Given the description of an element on the screen output the (x, y) to click on. 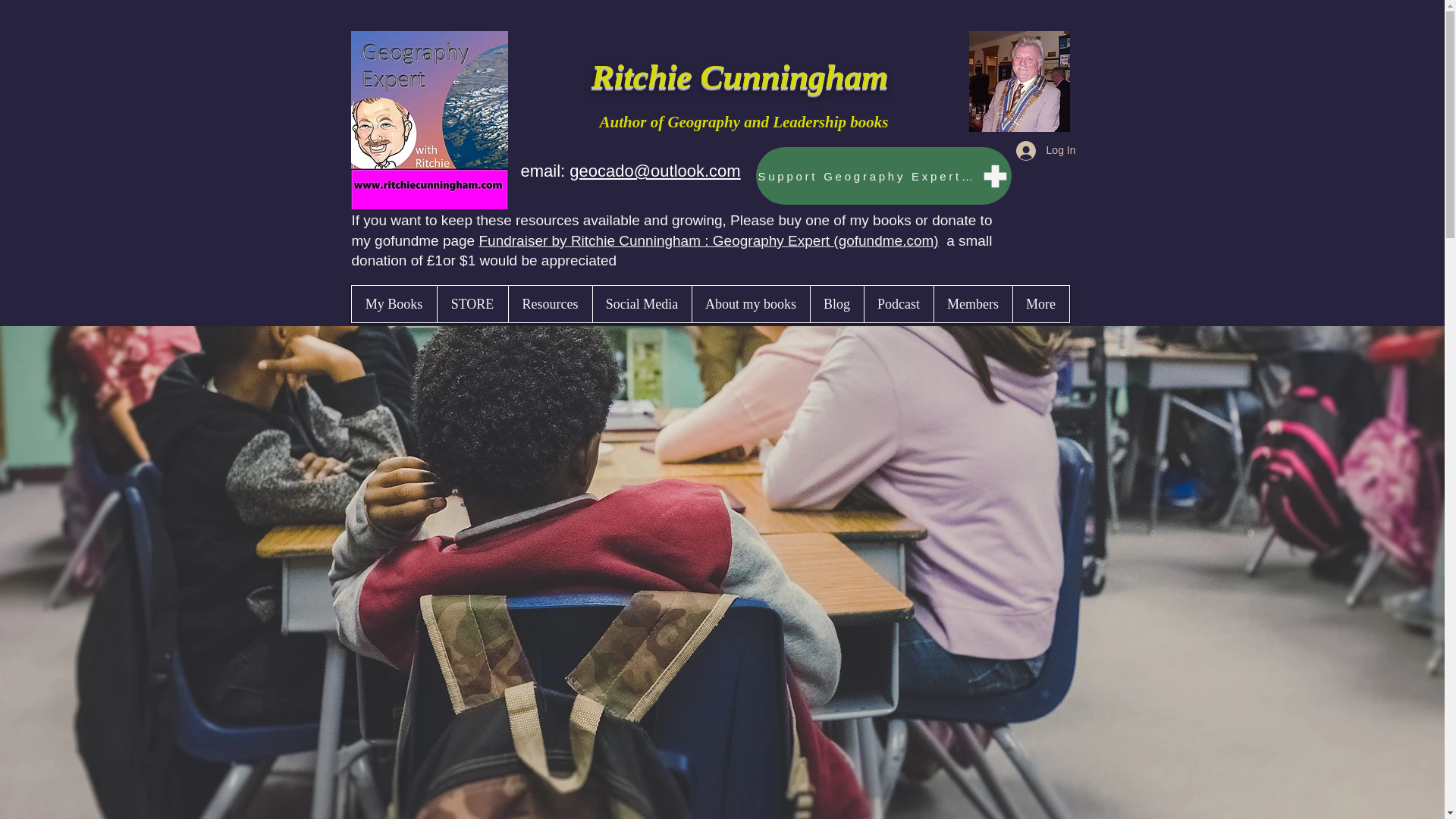
STORE (472, 303)
Resources (550, 303)
Podcast (898, 303)
Log In (1046, 150)
Members (972, 303)
About my books (750, 303)
My Books (394, 303)
Social Media (640, 303)
Support Geography Expert podcasts (882, 175)
Blog (836, 303)
Ritchie Cunningham  (743, 76)
